Given the description of an element on the screen output the (x, y) to click on. 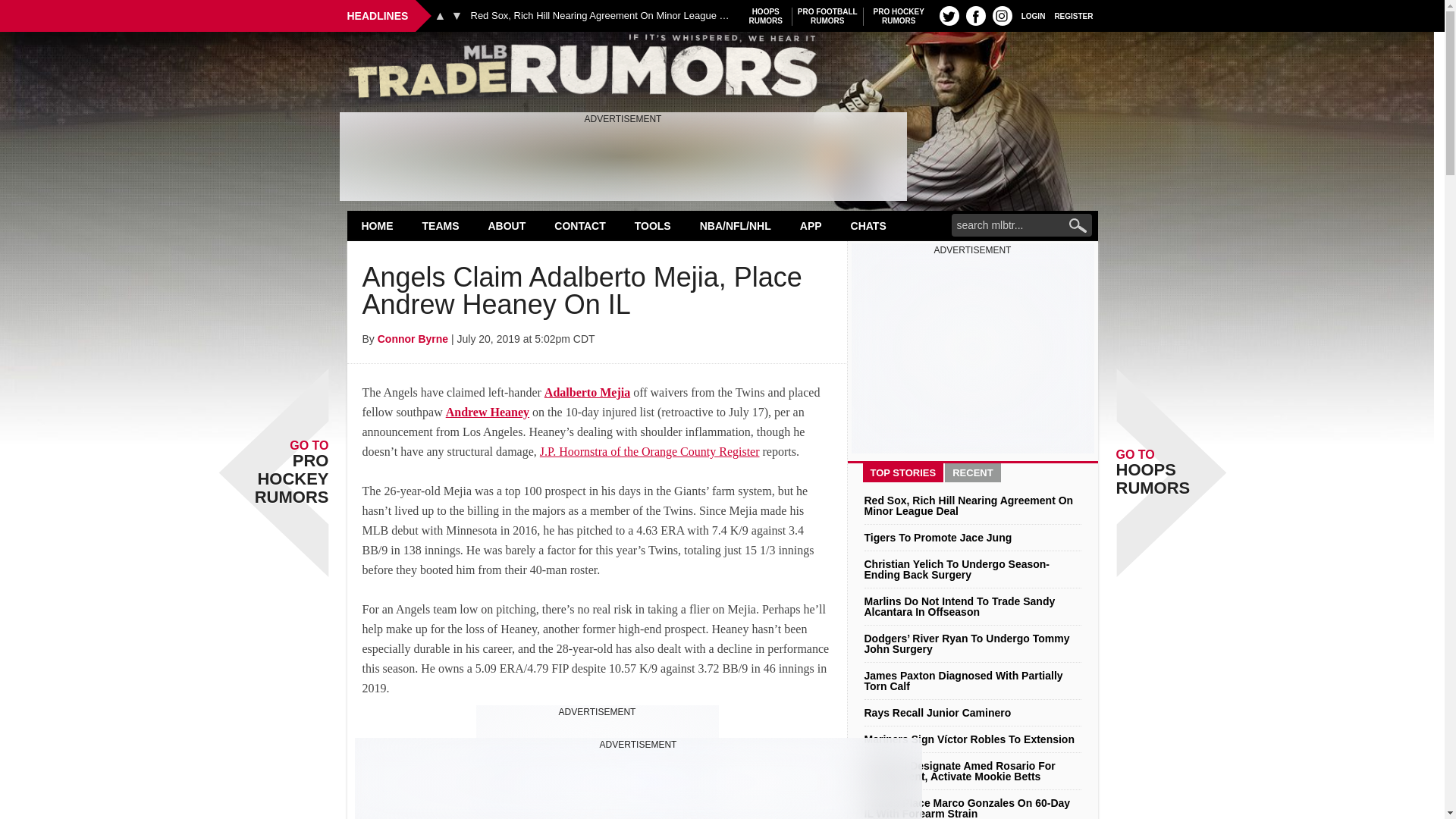
Twitter profile (949, 15)
FB profile (975, 15)
HOME (377, 225)
Red Sox, Rich Hill Nearing Agreement On Minor League Deal (898, 16)
REGISTER (765, 16)
Next (602, 15)
